Given the description of an element on the screen output the (x, y) to click on. 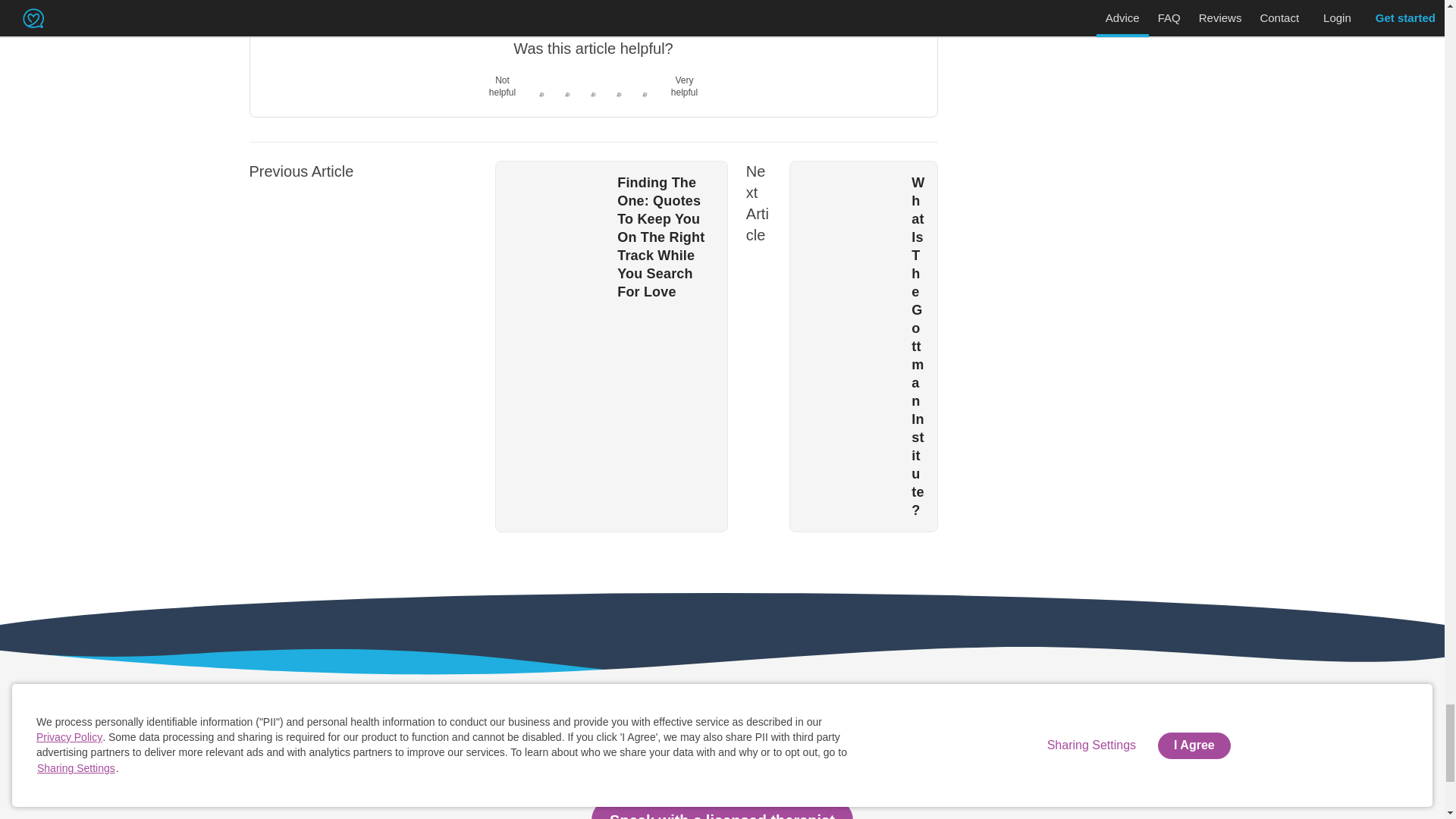
Read More (295, 2)
0 (566, 103)
